Given the description of an element on the screen output the (x, y) to click on. 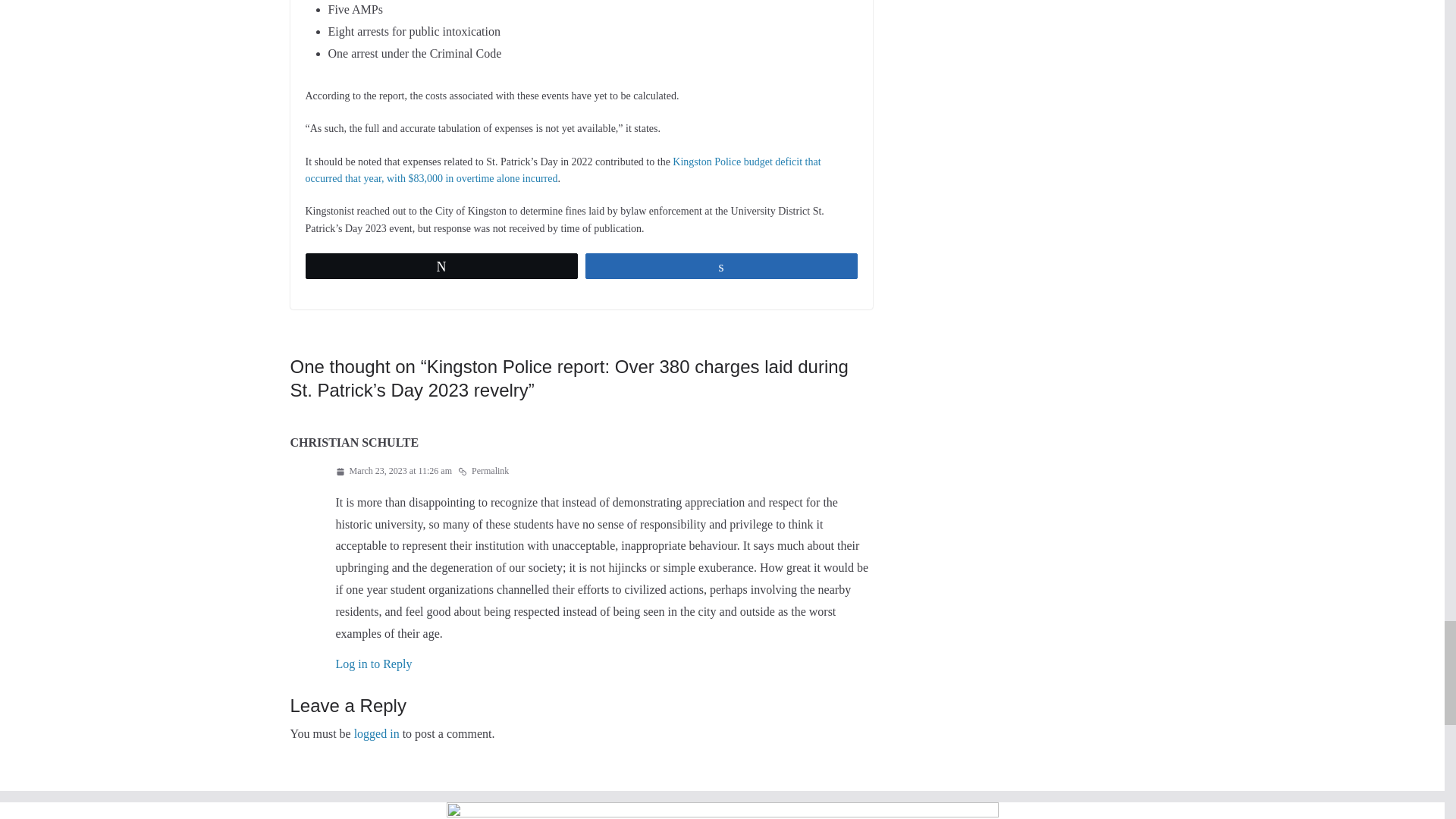
Log in to Reply (373, 663)
logged in (375, 733)
Permalink (483, 471)
